Given the description of an element on the screen output the (x, y) to click on. 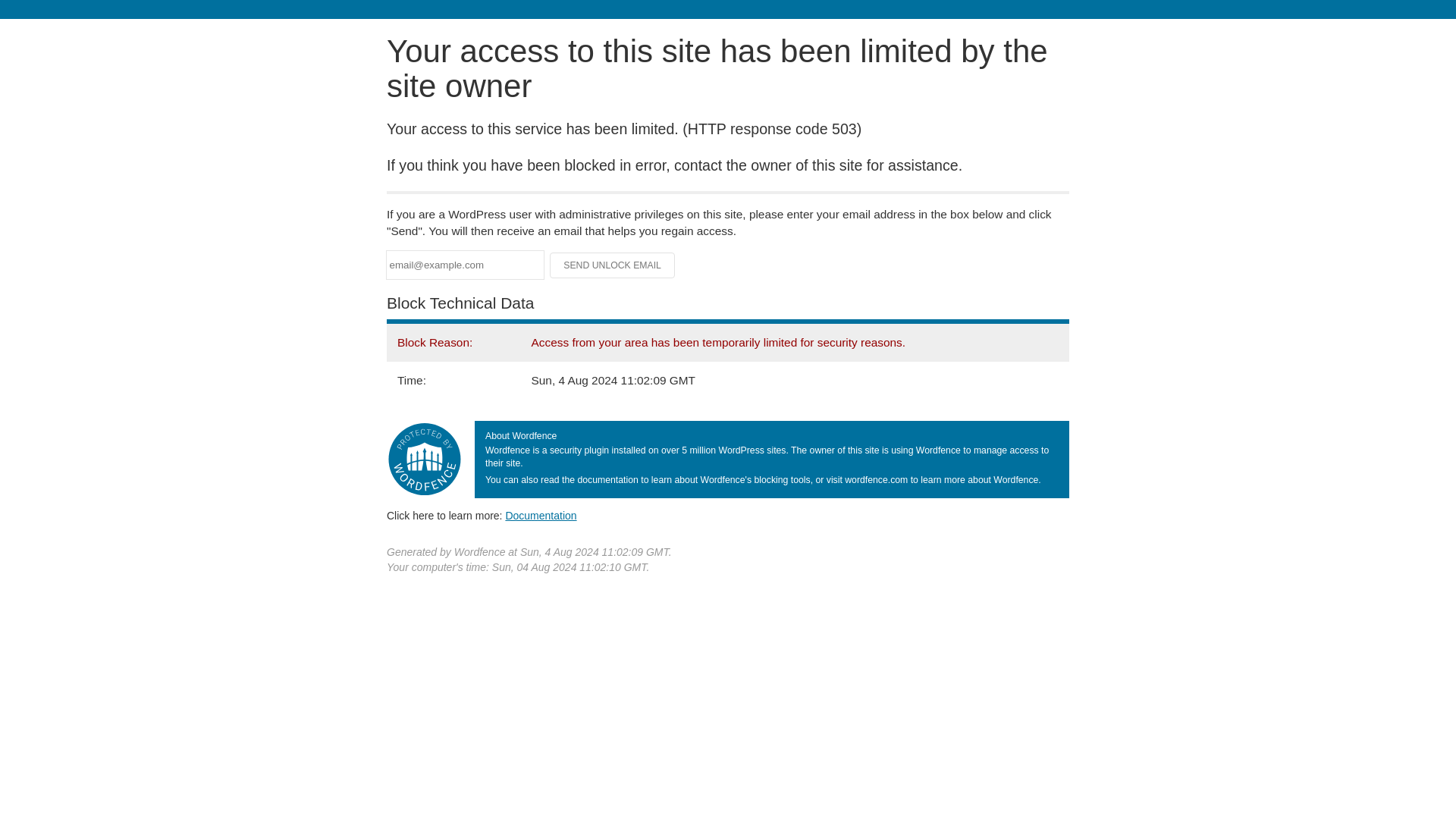
Send Unlock Email (612, 265)
Documentation (540, 515)
Send Unlock Email (612, 265)
